Given the description of an element on the screen output the (x, y) to click on. 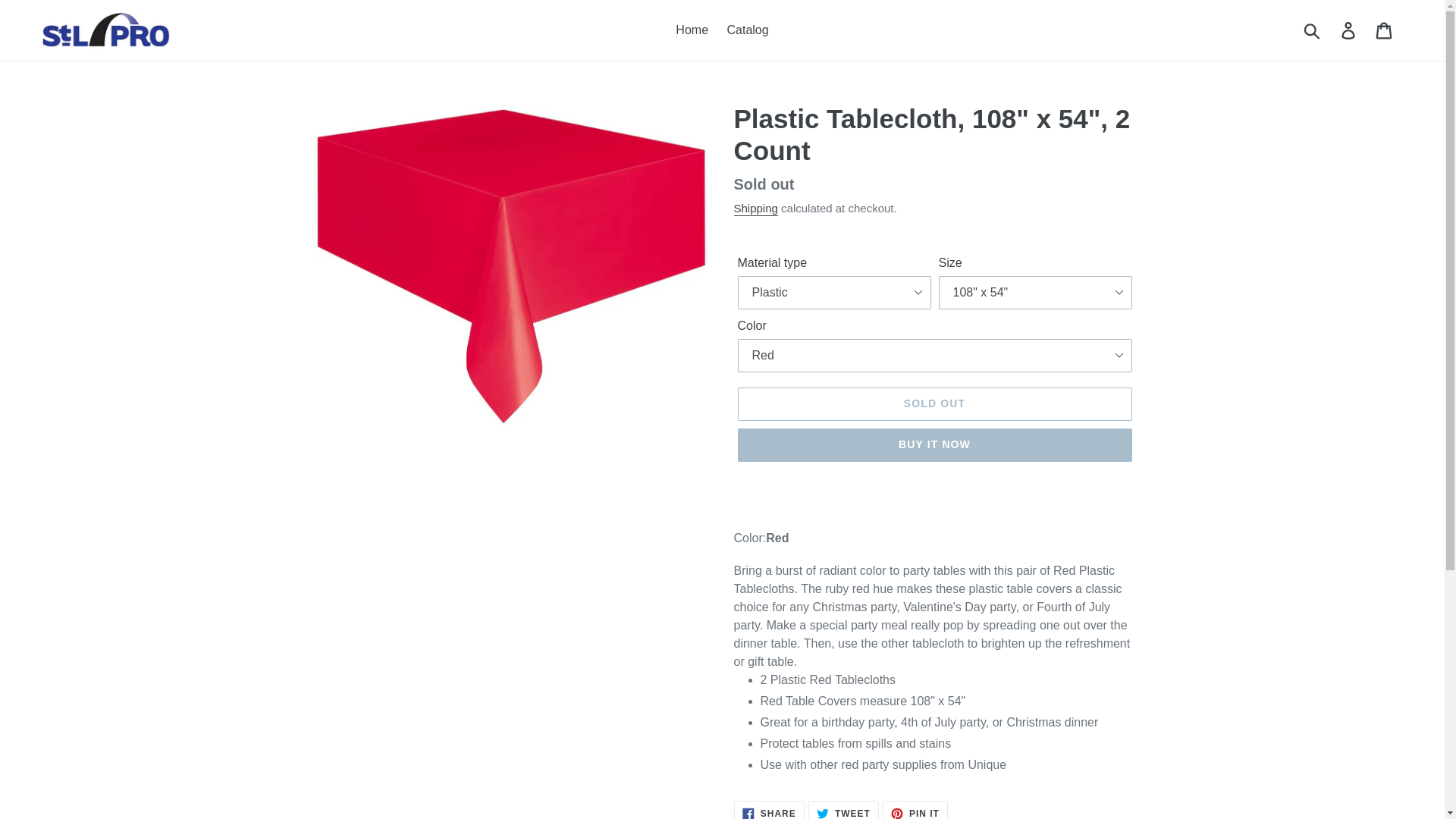
SOLD OUT (933, 403)
Catalog (914, 809)
Shipping (747, 29)
BUY IT NOW (843, 809)
Home (755, 208)
Cart (933, 444)
Log in (769, 809)
Submit (692, 29)
